Given the description of an element on the screen output the (x, y) to click on. 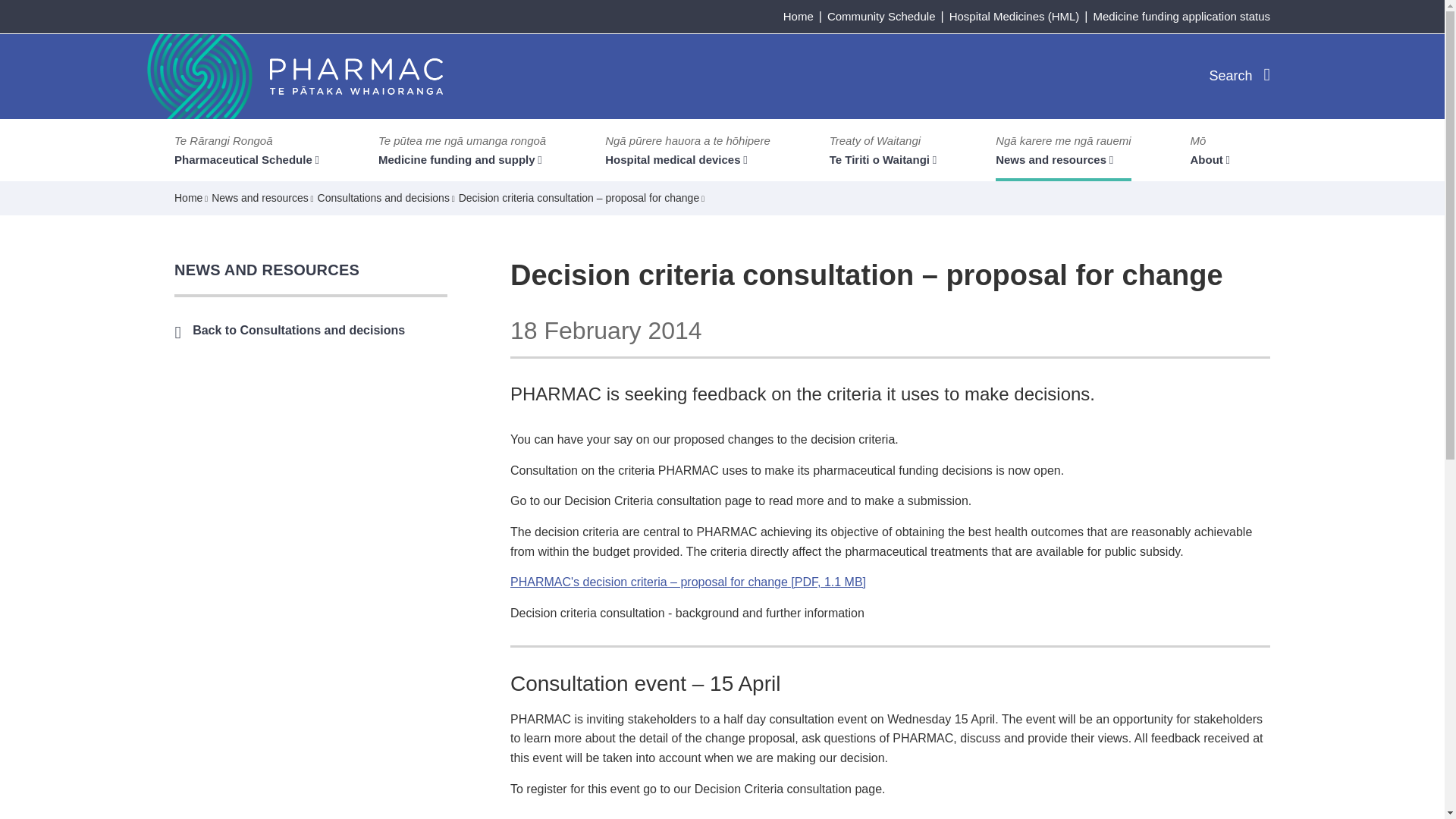
Home (798, 15)
Search (1239, 75)
Medicine funding application status (1181, 15)
Community Schedule (881, 15)
